Given the description of an element on the screen output the (x, y) to click on. 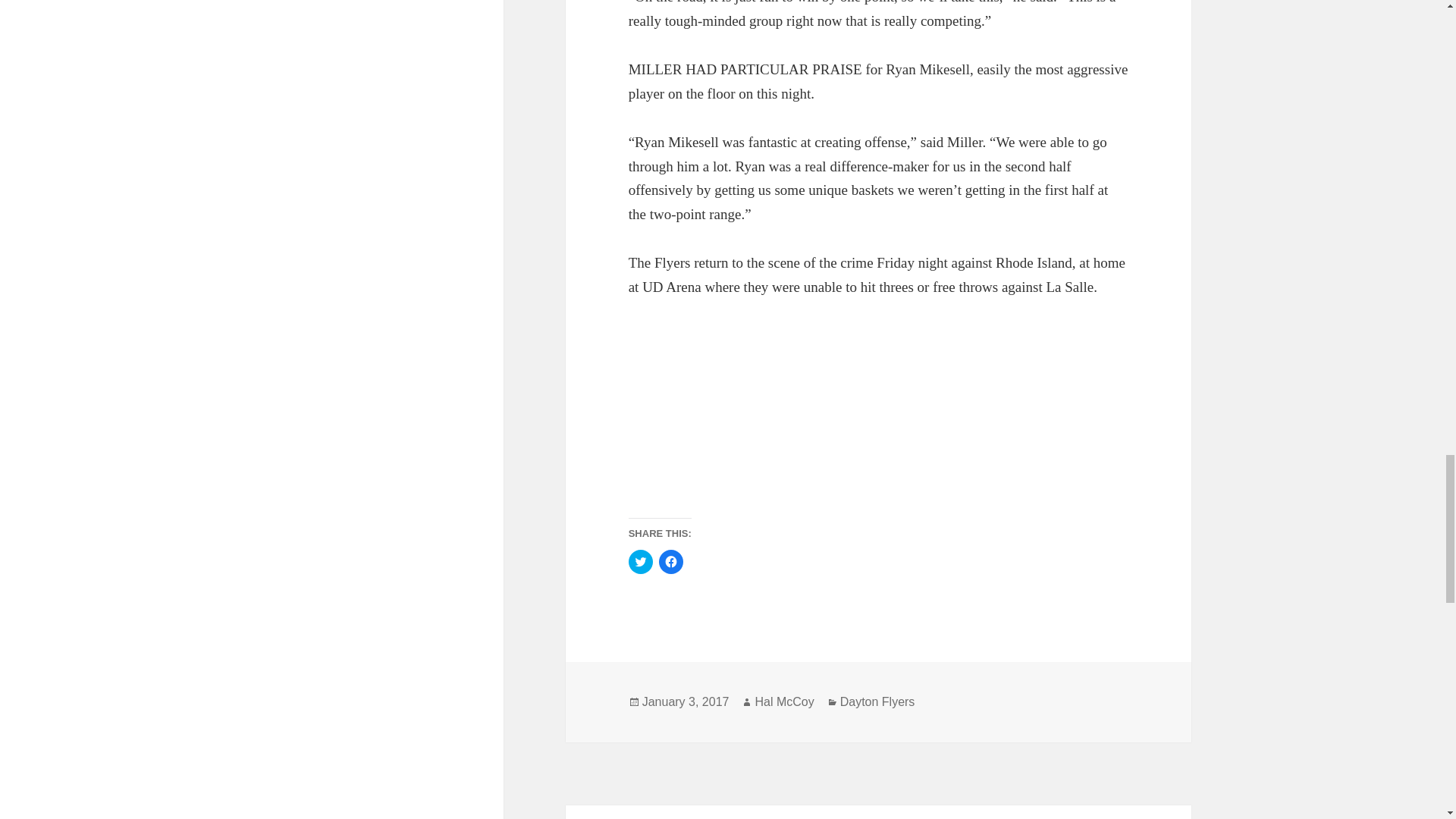
Click to share on Twitter (640, 561)
Click to share on Facebook (670, 561)
January 3, 2017 (685, 702)
Hal McCoy (783, 702)
Dayton Flyers (877, 702)
